Given the description of an element on the screen output the (x, y) to click on. 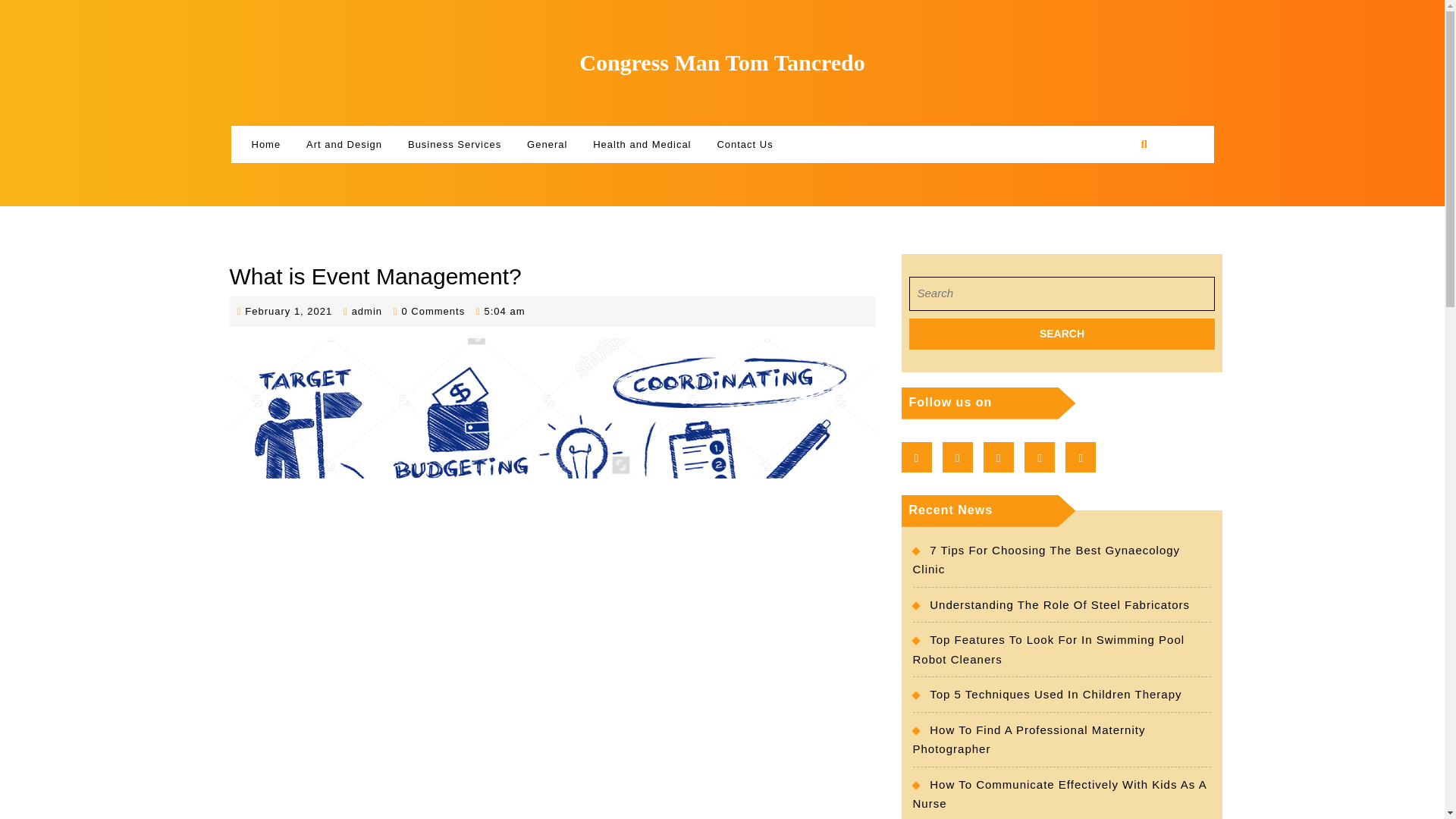
Search (1061, 333)
General (366, 310)
How To Communicate Effectively With Kids As A Nurse (546, 144)
Top 5 Techniques Used In Children Therapy (1059, 794)
Search (1055, 694)
7 Tips For Choosing The Best Gynaecology Clinic (287, 310)
Health and Medical (1061, 333)
Understanding The Role Of Steel Fabricators (1046, 559)
